Given the description of an element on the screen output the (x, y) to click on. 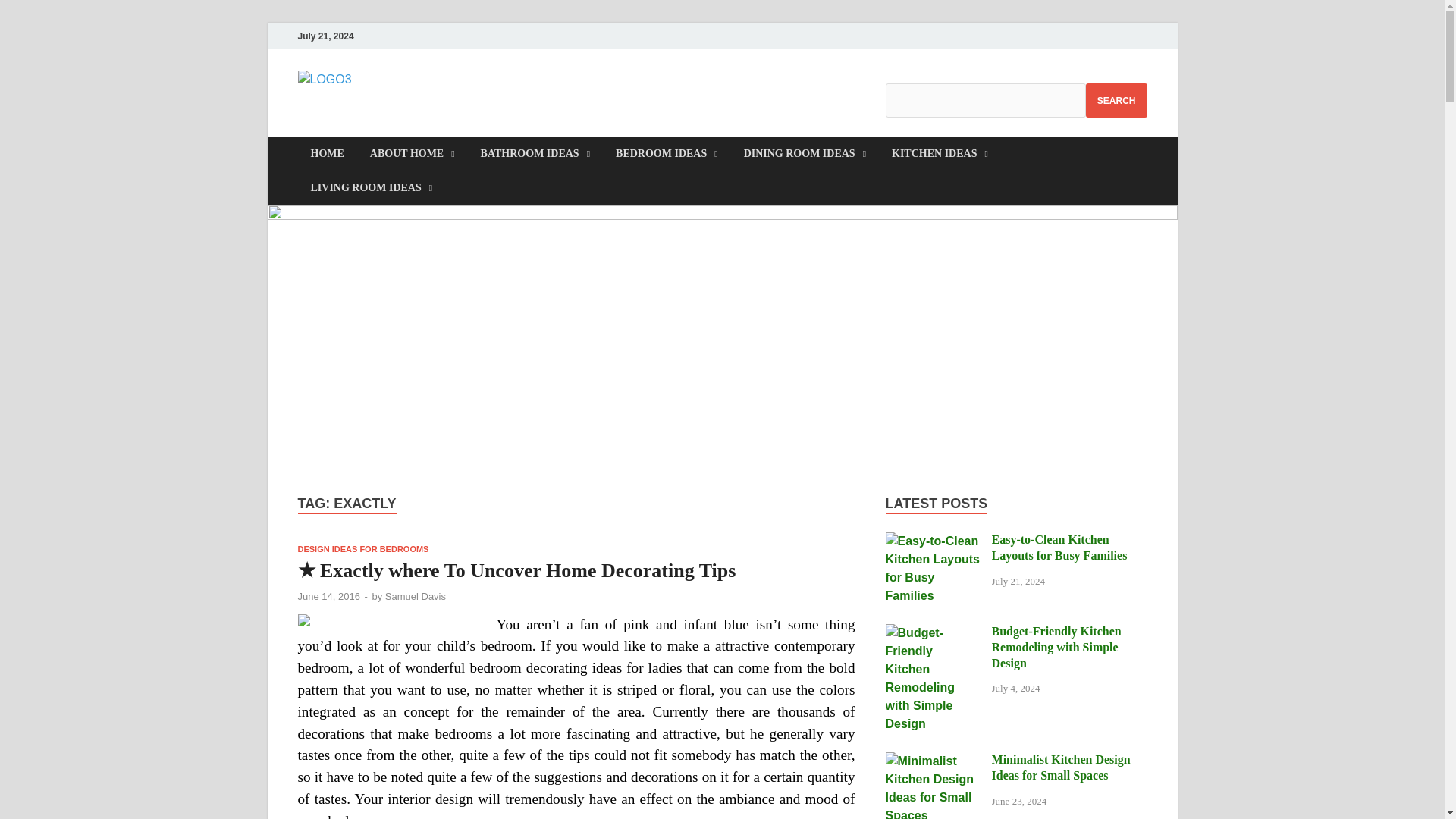
BATHROOM IDEAS (534, 153)
SEARCH (1116, 100)
Minimalist Kitchen Design Ideas for Small Spaces (932, 760)
Easy-to-Clean Kitchen Layouts for Busy Families (932, 540)
Budget-Friendly Kitchen Remodeling with Simple Design (932, 632)
BEDROOM IDEAS (666, 153)
HOME (326, 153)
ABOUT HOME (411, 153)
DINING ROOM IDEAS (804, 153)
SCC-Home (433, 100)
